Given the description of an element on the screen output the (x, y) to click on. 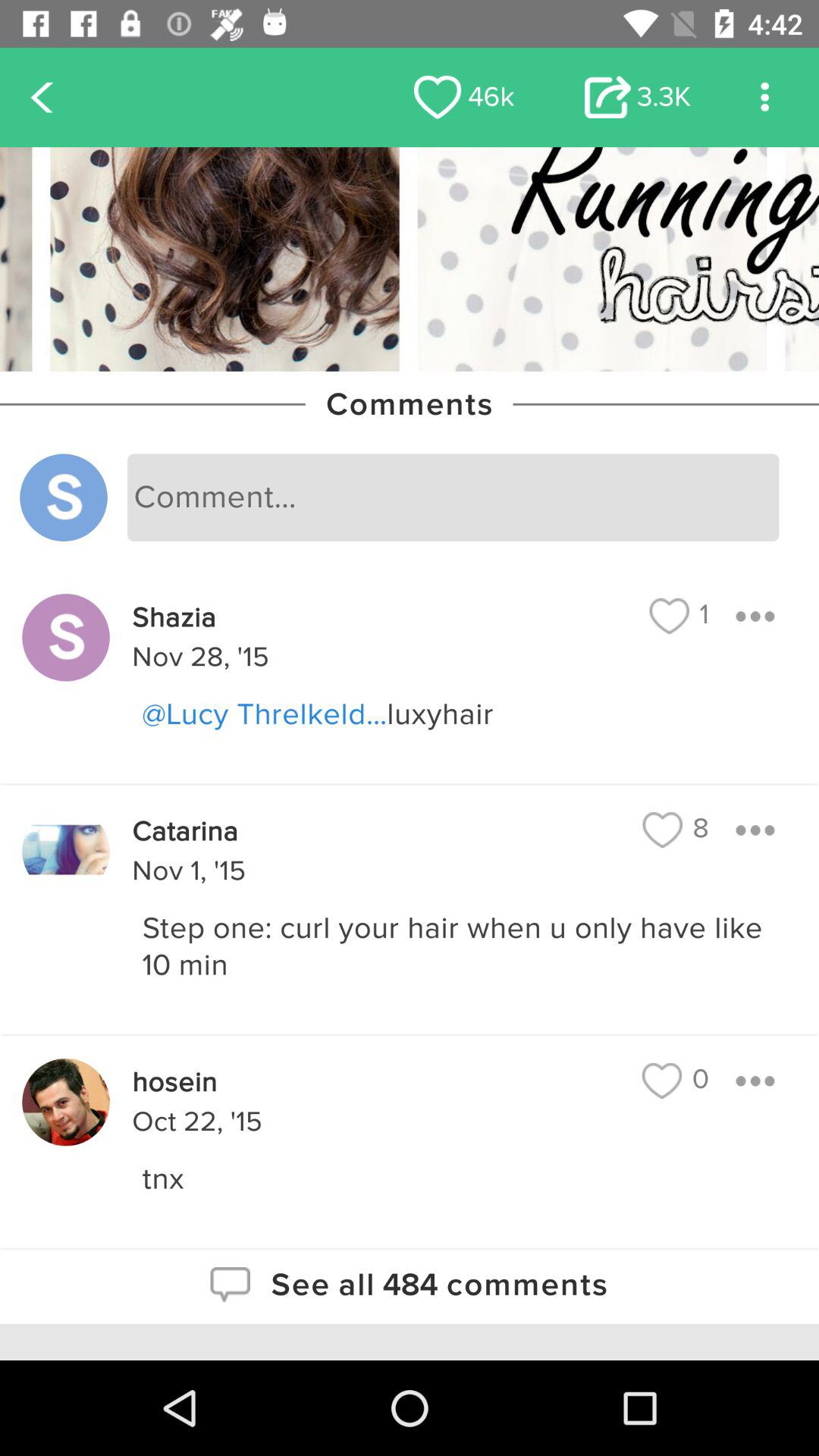
settings (764, 97)
